Given the description of an element on the screen output the (x, y) to click on. 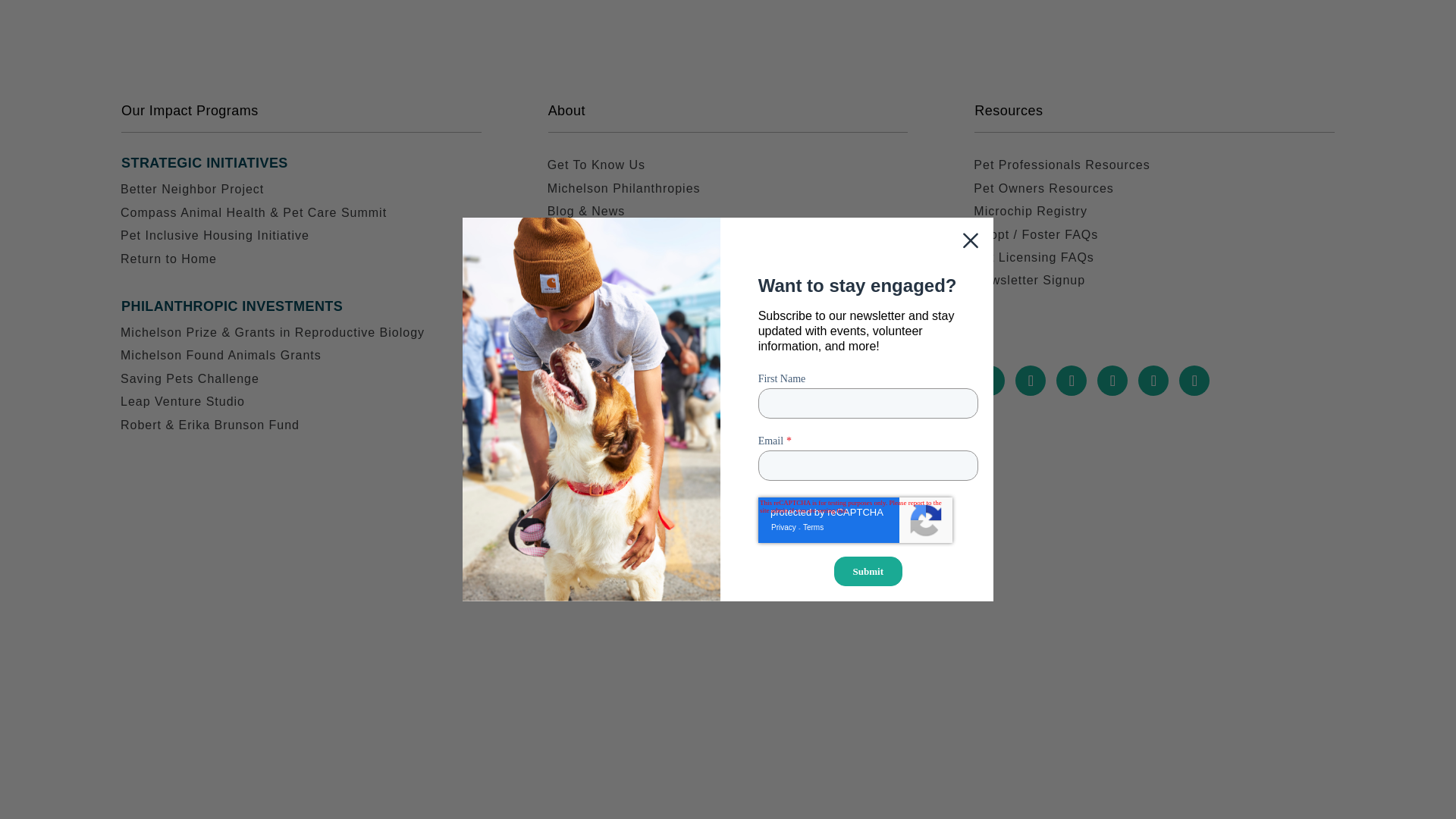
Follow on Instagram (1071, 380)
Follow on LinkedIn (1153, 380)
Follow on Twitter (1029, 380)
Follow on Youtube (1111, 380)
Follow on TikTok (1194, 380)
Follow on Facebook (989, 380)
